Given the description of an element on the screen output the (x, y) to click on. 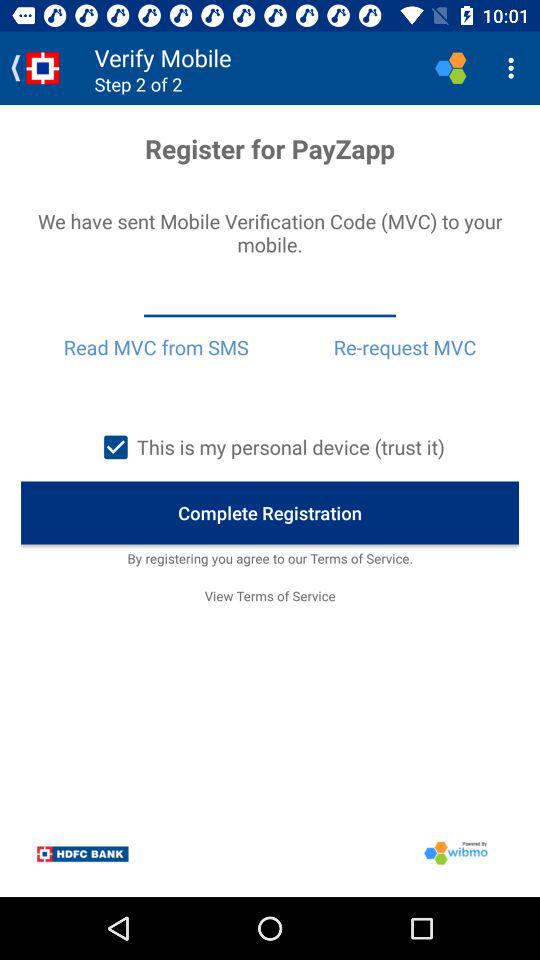
flip until the complete registration item (270, 512)
